Given the description of an element on the screen output the (x, y) to click on. 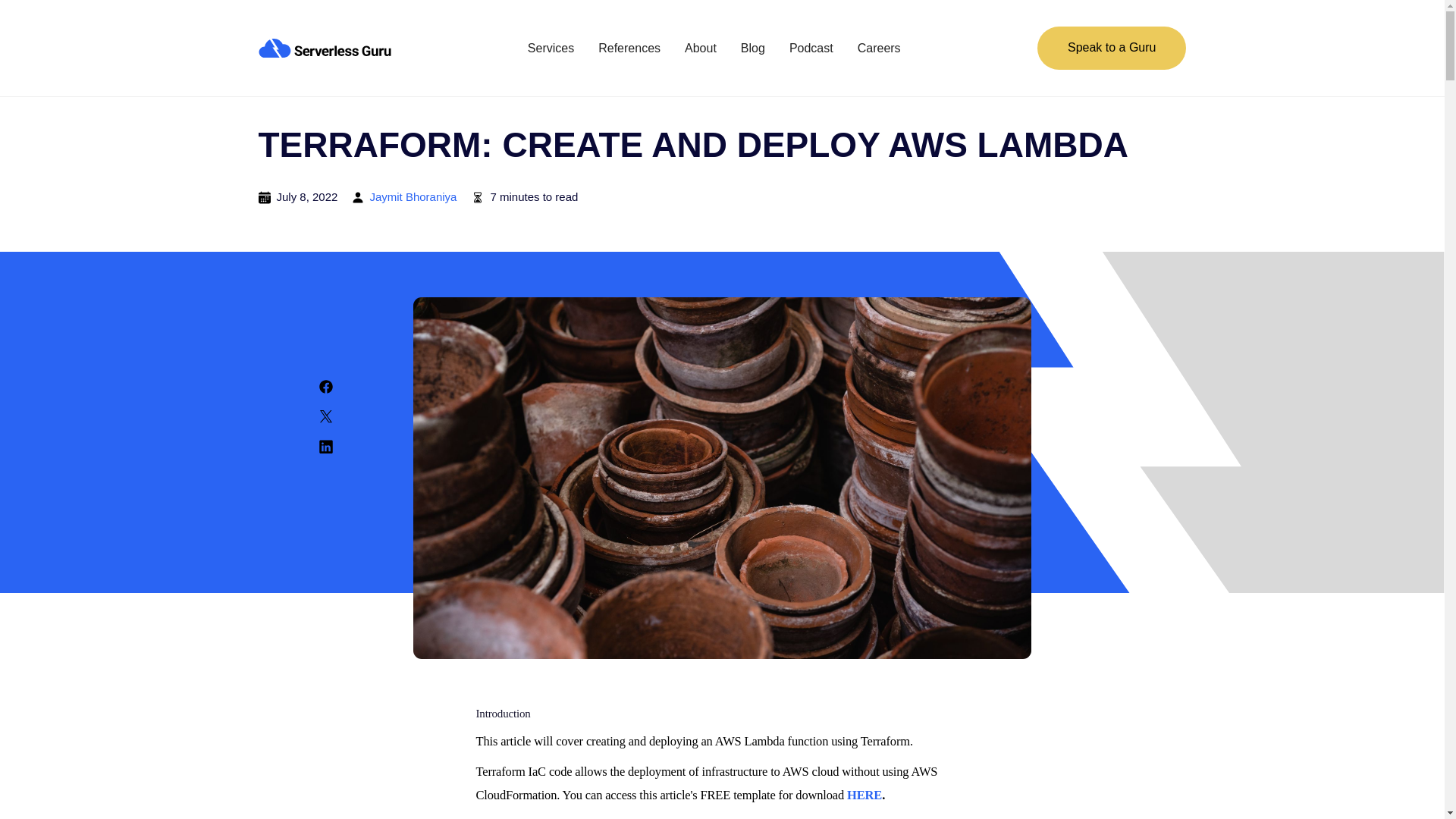
Jaymit Bhoraniya (413, 197)
Careers (879, 47)
Blog (753, 47)
Speak to a Guru (1111, 47)
HERE (864, 794)
References (629, 47)
Services (550, 47)
Podcast (810, 47)
About (700, 47)
